Given the description of an element on the screen output the (x, y) to click on. 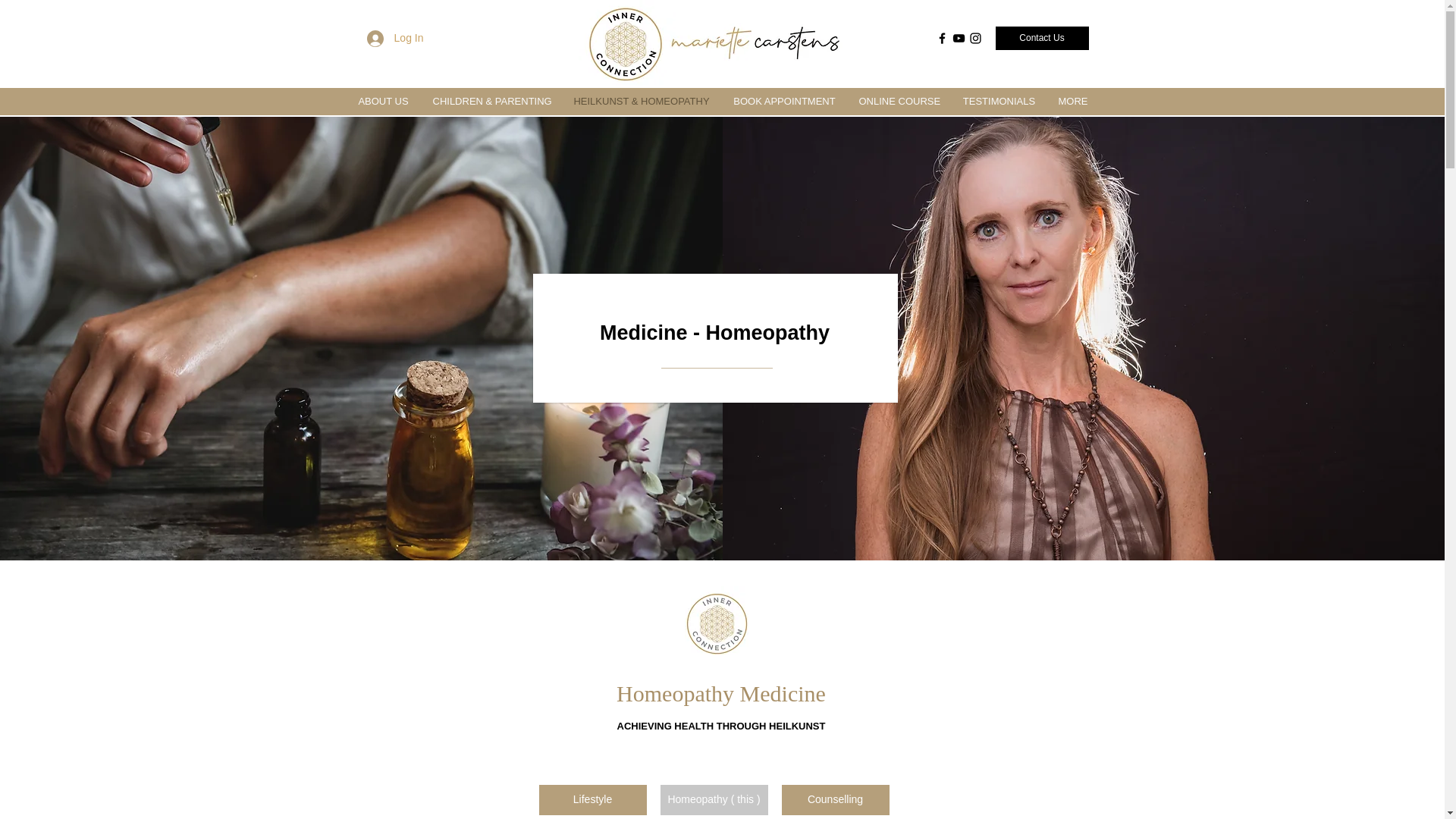
BOOK APPOINTMENT (784, 101)
Counselling (834, 799)
ABOUT US (384, 101)
Log In (394, 38)
Contact Us (1040, 37)
ONLINE COURSE (899, 101)
Lifestyle (592, 799)
TESTIMONIALS (998, 101)
